Given the description of an element on the screen output the (x, y) to click on. 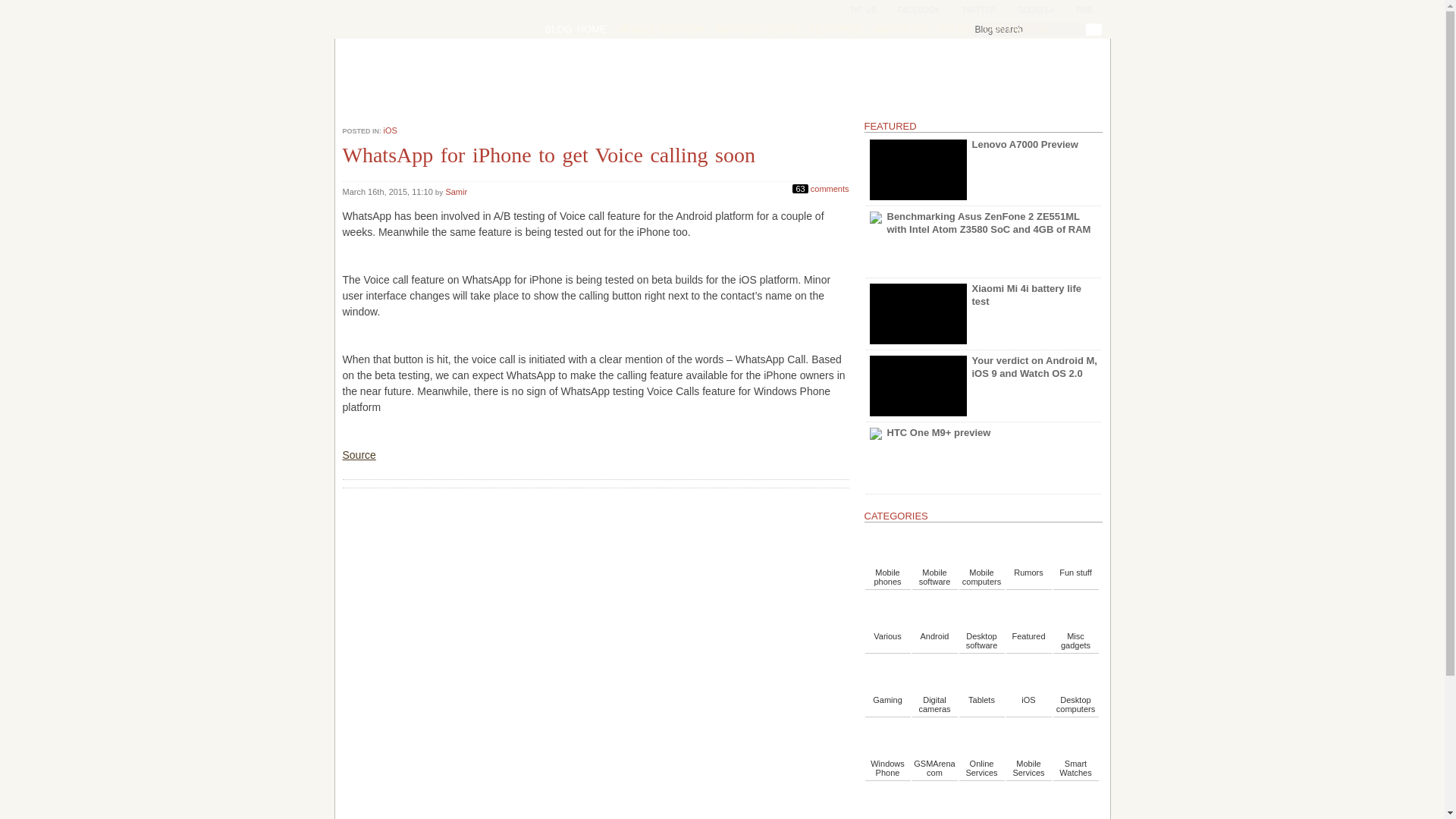
RSS (1078, 10)
Blog search (1038, 29)
MOBILE VERSION (661, 28)
63 comments (820, 186)
Samir (456, 191)
Go (1094, 29)
Lenovo A7000 Preview (972, 169)
iOS (390, 130)
Go (1094, 29)
Xiaomi Mi 4i battery life test (983, 313)
View all posts in iOS (390, 130)
BLOG HOME (574, 28)
Your verdict on Android M, iOS 9 and Watch OS 2.0 (983, 385)
TIP US (955, 28)
